Given the description of an element on the screen output the (x, y) to click on. 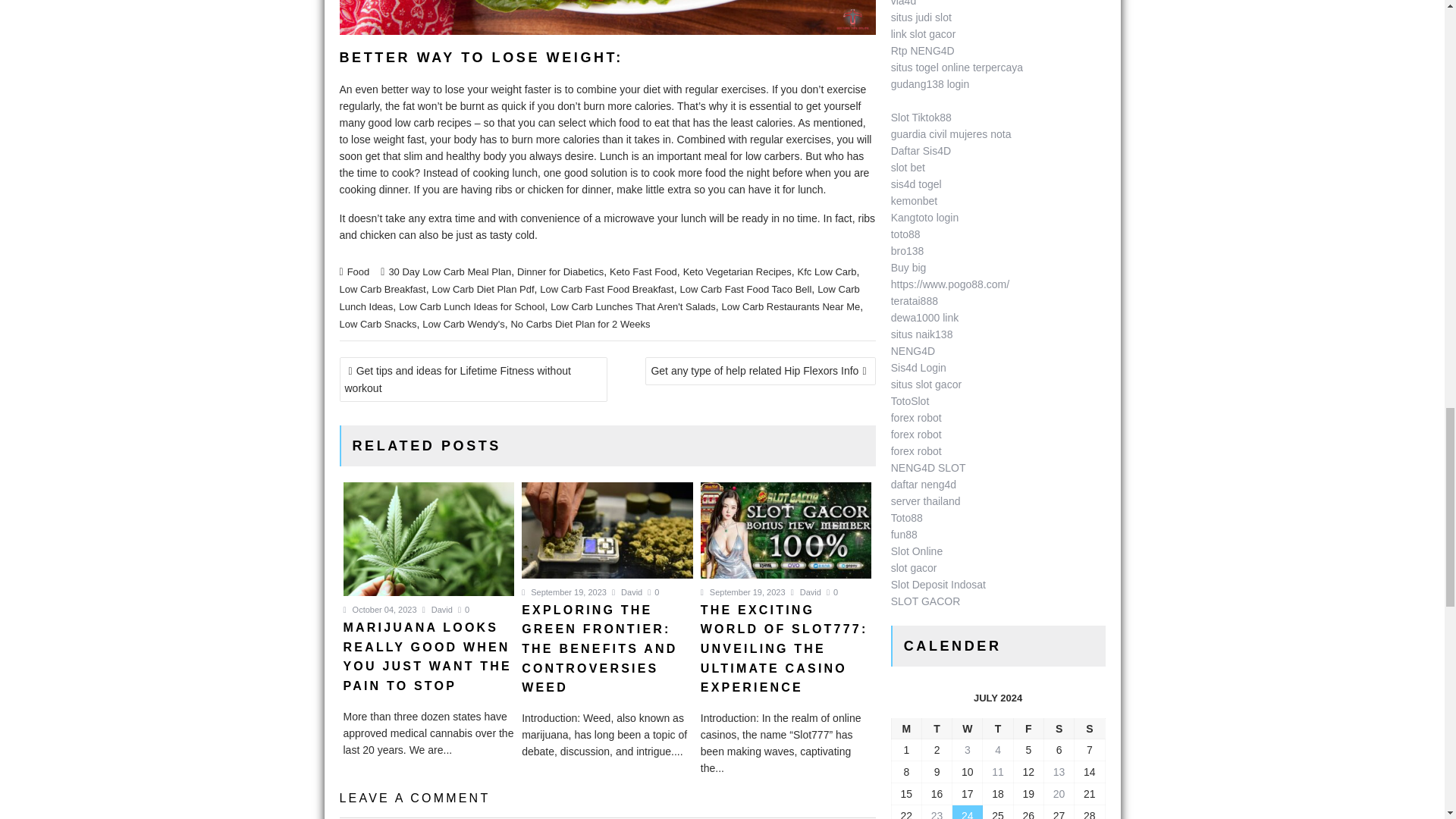
David (805, 592)
Saturday (1058, 729)
Monday (906, 729)
Thursday (997, 729)
Wednesday (967, 729)
David (626, 592)
Sunday (1089, 729)
David (437, 609)
Tuesday (936, 729)
Friday (1028, 729)
Food (358, 271)
